Given the description of an element on the screen output the (x, y) to click on. 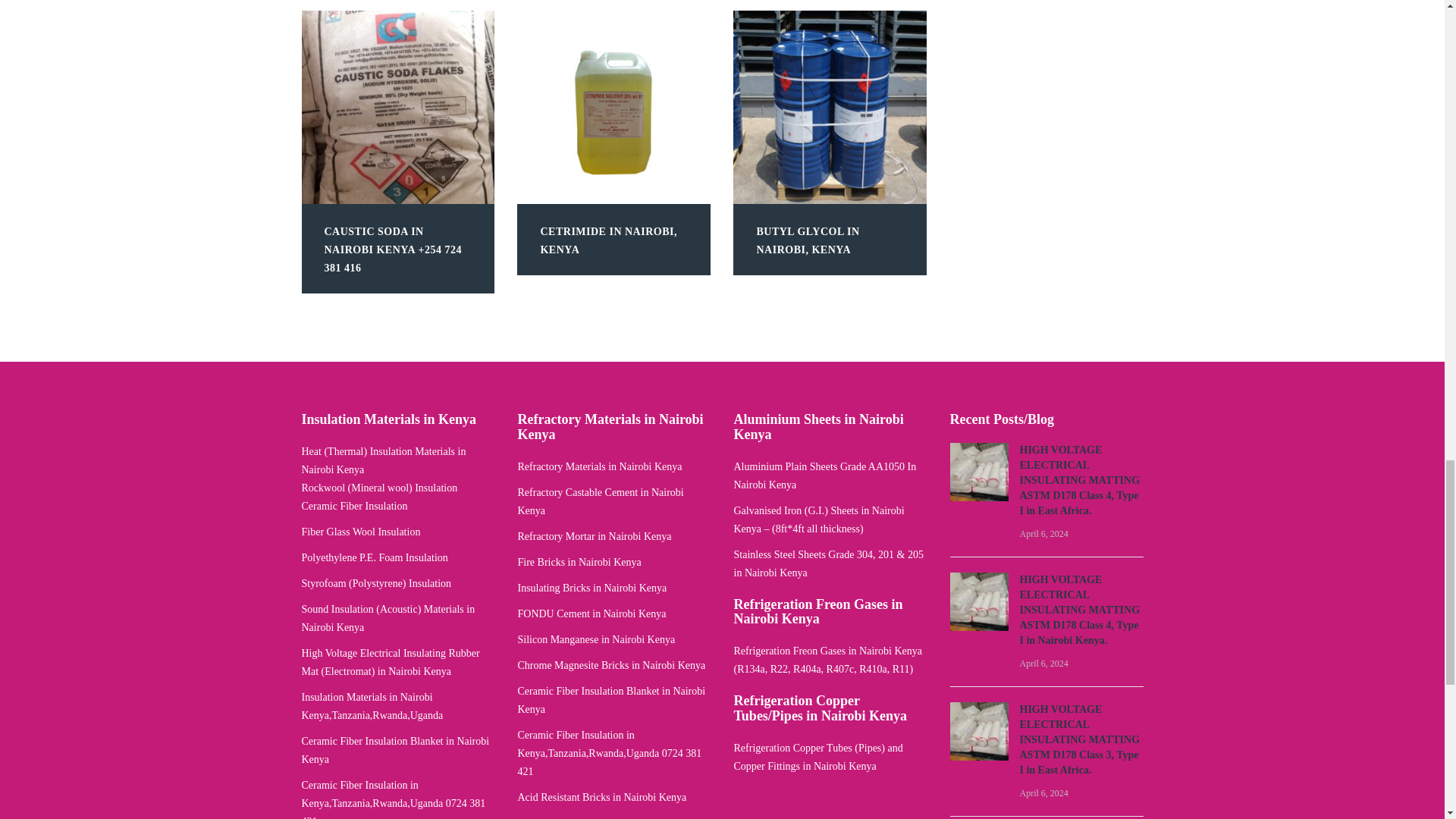
mat4 (978, 472)
mat4 (978, 601)
mat4 (978, 730)
